Given the description of an element on the screen output the (x, y) to click on. 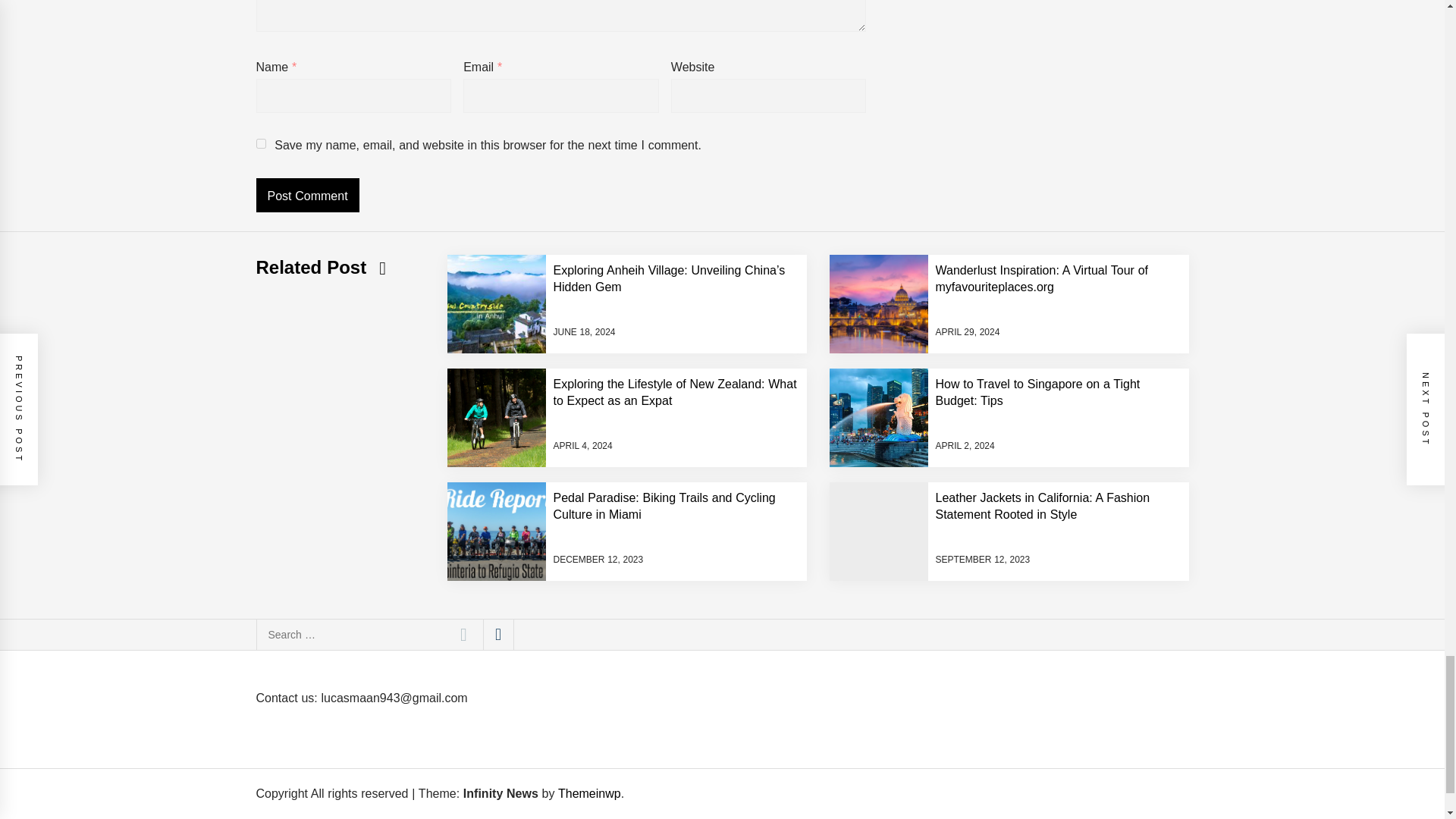
yes (261, 143)
Search (462, 634)
Post Comment (307, 195)
Post Comment (307, 195)
Search (462, 634)
